Given the description of an element on the screen output the (x, y) to click on. 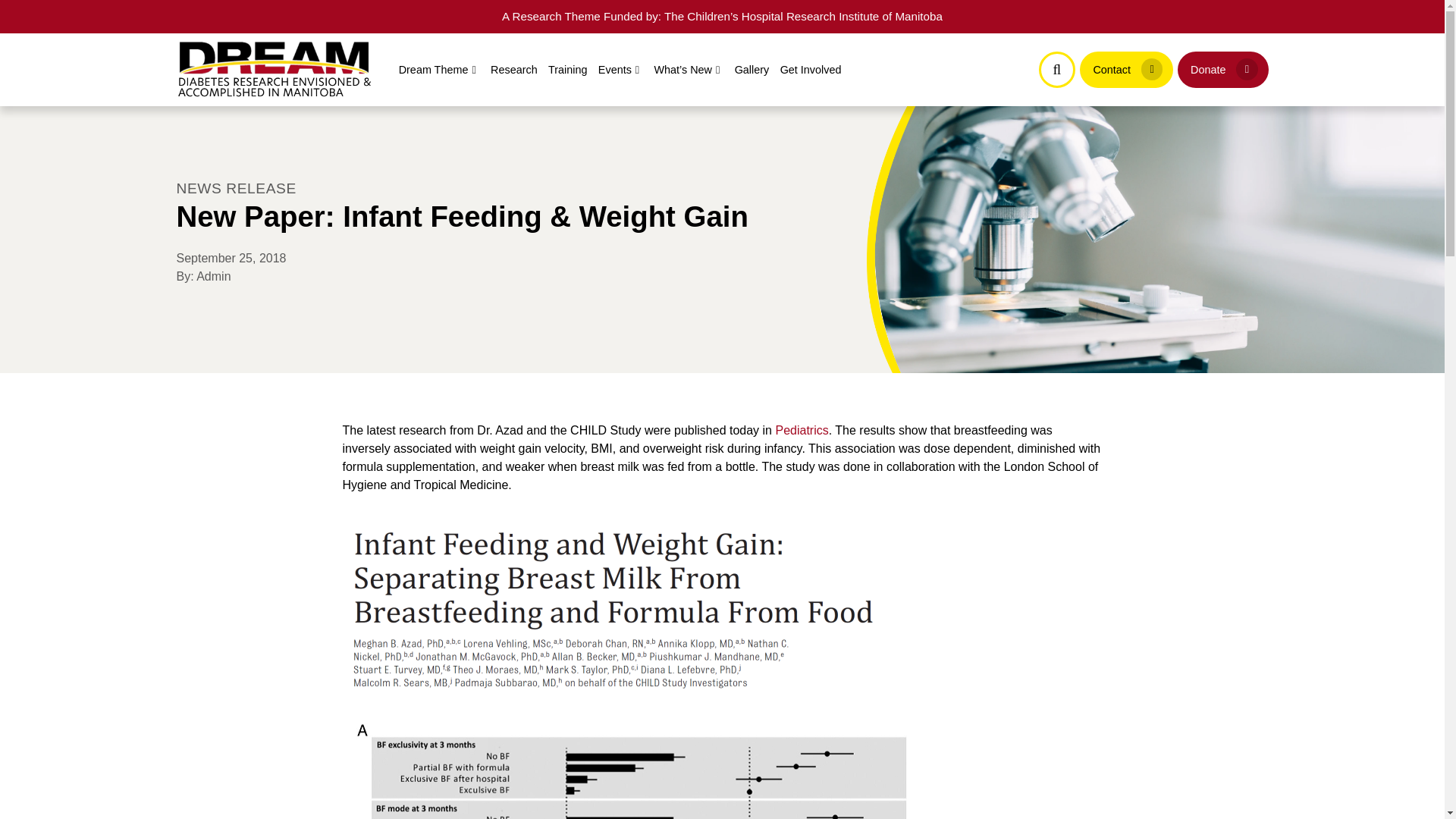
NEWS RELEASE (235, 188)
Get Involved (809, 69)
Pediatrics (801, 430)
Dream Theme (438, 69)
Contact (1126, 69)
Donate (1222, 69)
